Given the description of an element on the screen output the (x, y) to click on. 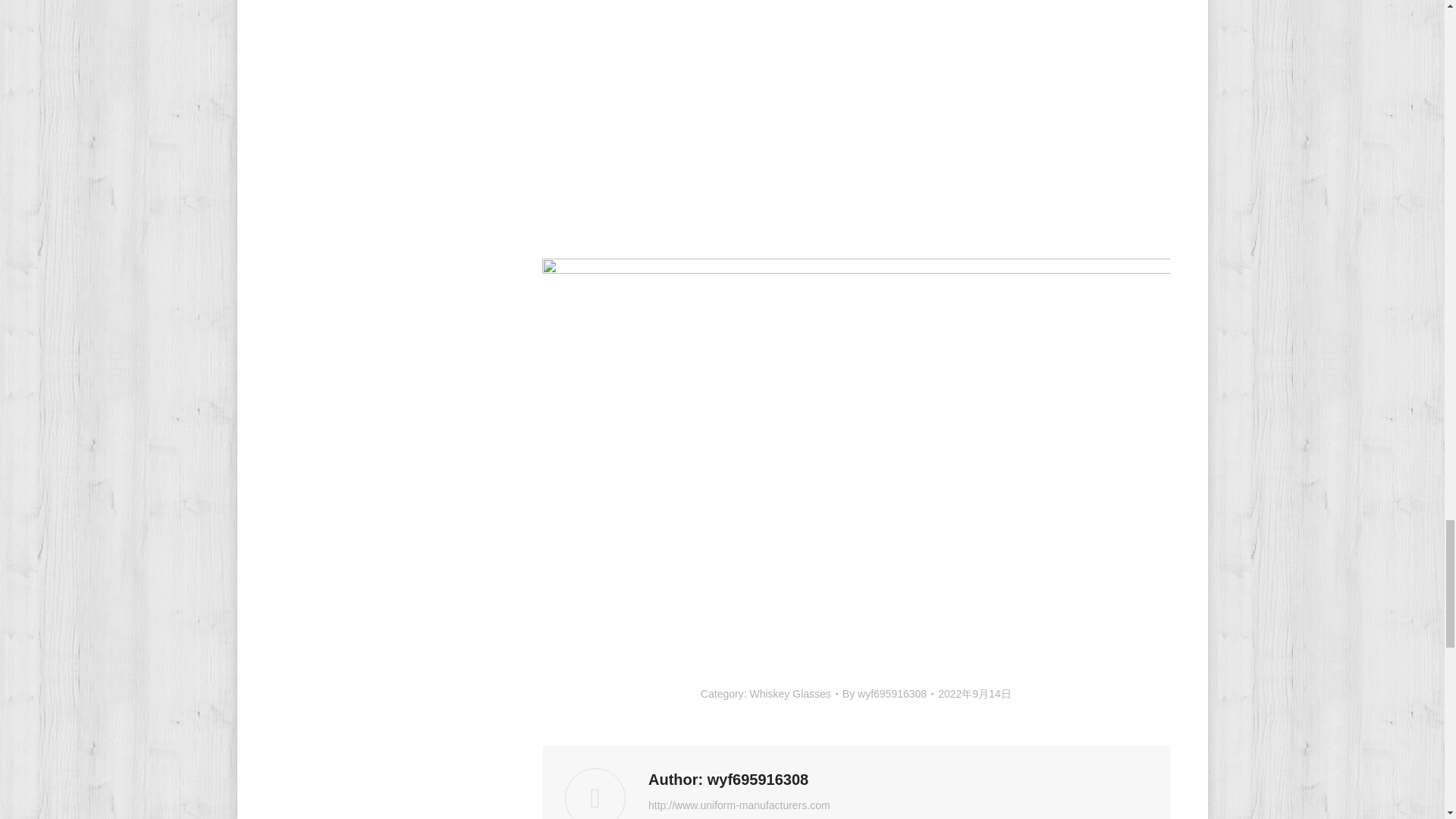
pm2:57 (974, 693)
View all posts by wyf695916308 (888, 693)
